Given the description of an element on the screen output the (x, y) to click on. 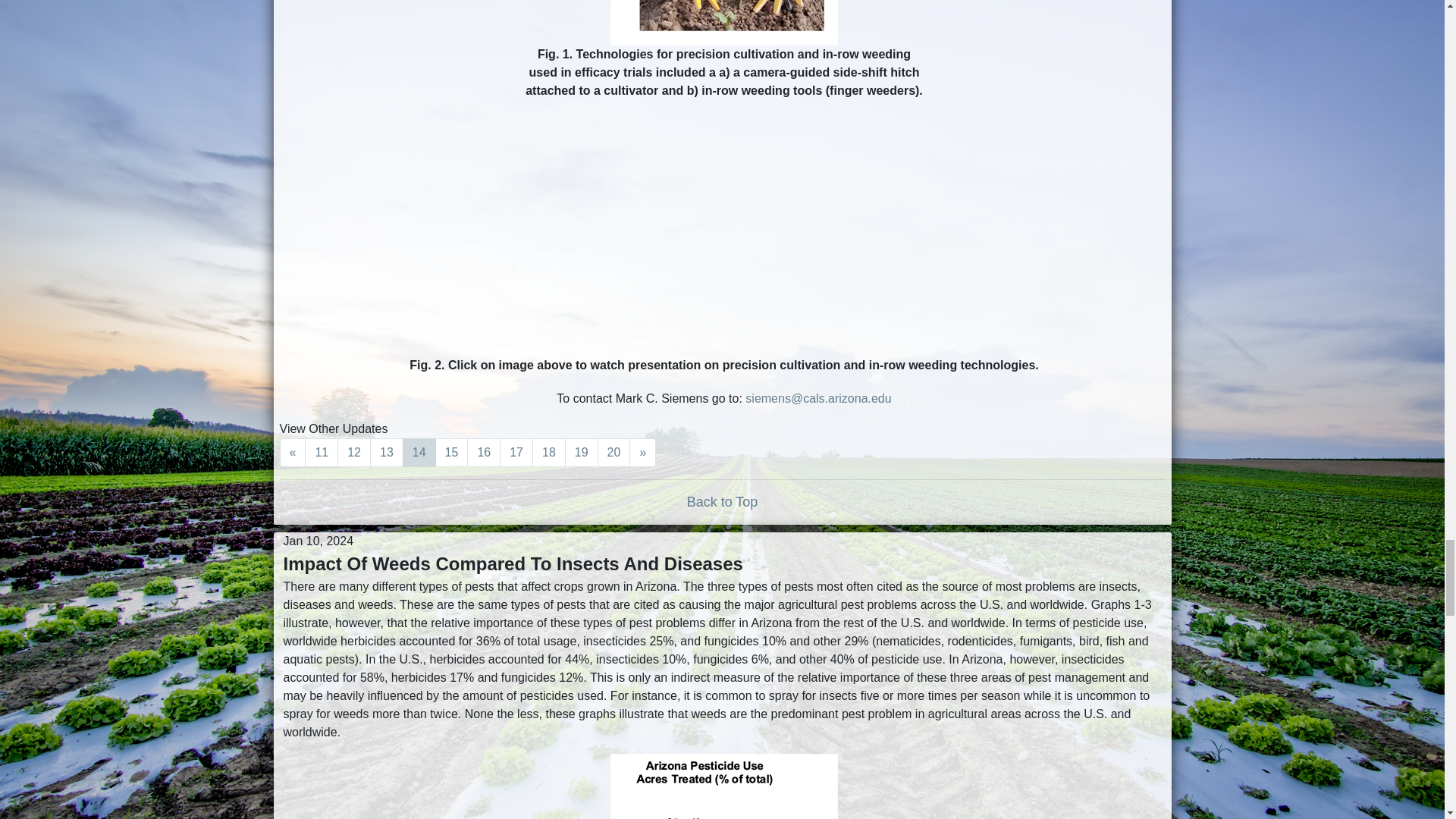
YouTube video player (724, 231)
